Given the description of an element on the screen output the (x, y) to click on. 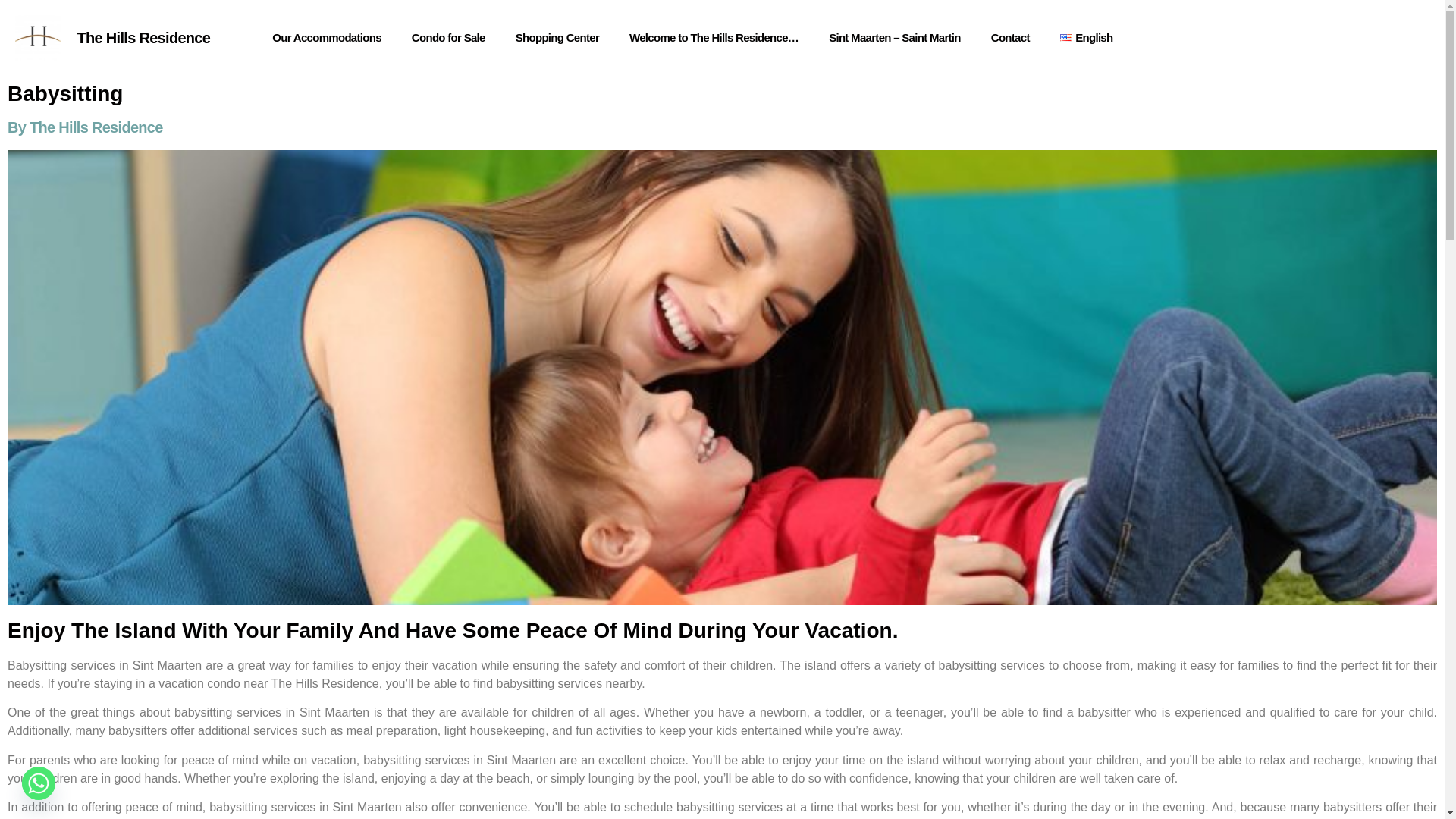
Contact (1010, 37)
The Hills Residence (144, 37)
English (1086, 37)
Condo for Sale (448, 37)
Shopping Center (557, 37)
Our Accommodations (326, 37)
